Given the description of an element on the screen output the (x, y) to click on. 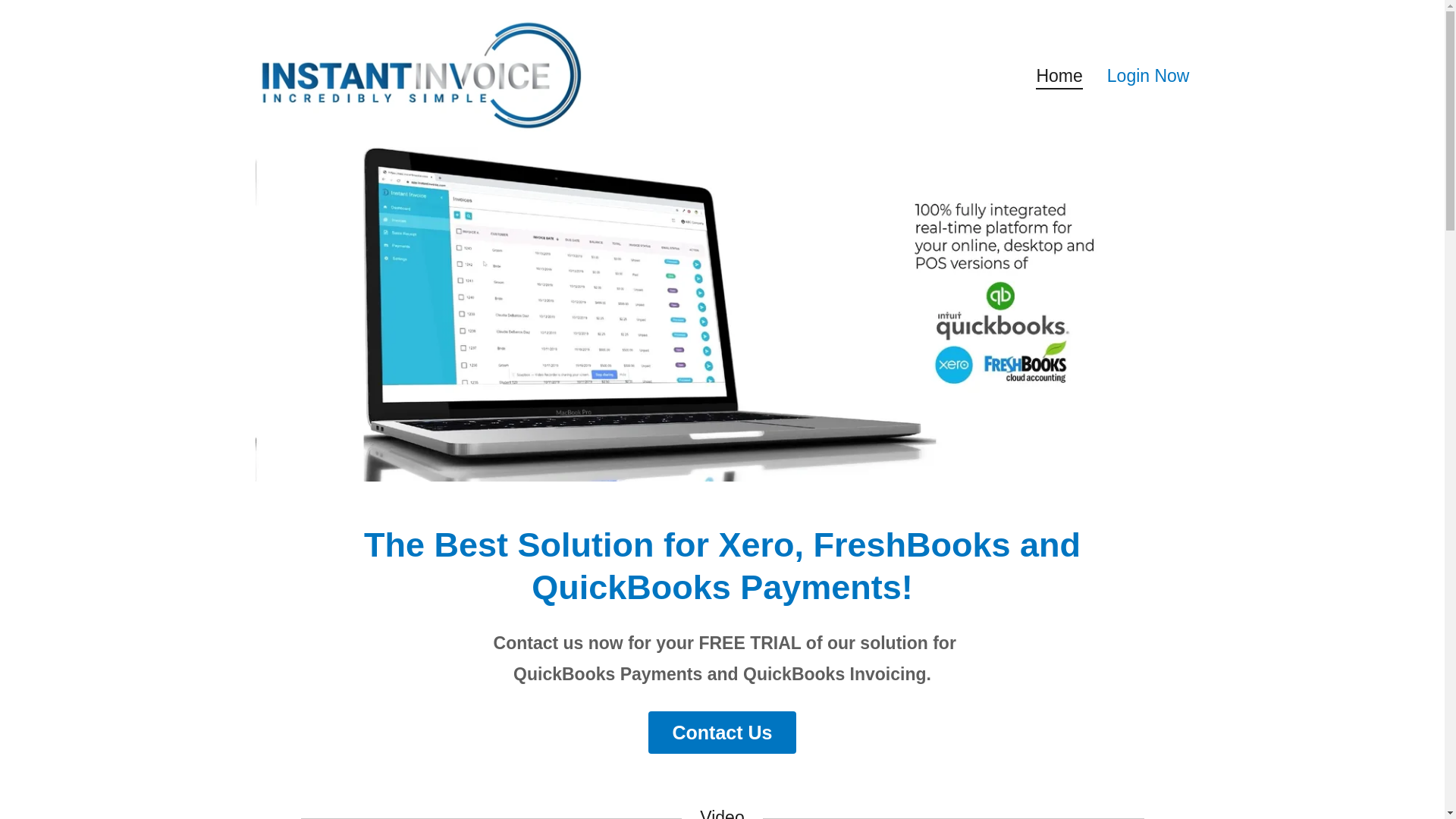
Contact Us (721, 732)
Home (1058, 77)
Instant Invoice (417, 71)
Login Now (1147, 74)
